Given the description of an element on the screen output the (x, y) to click on. 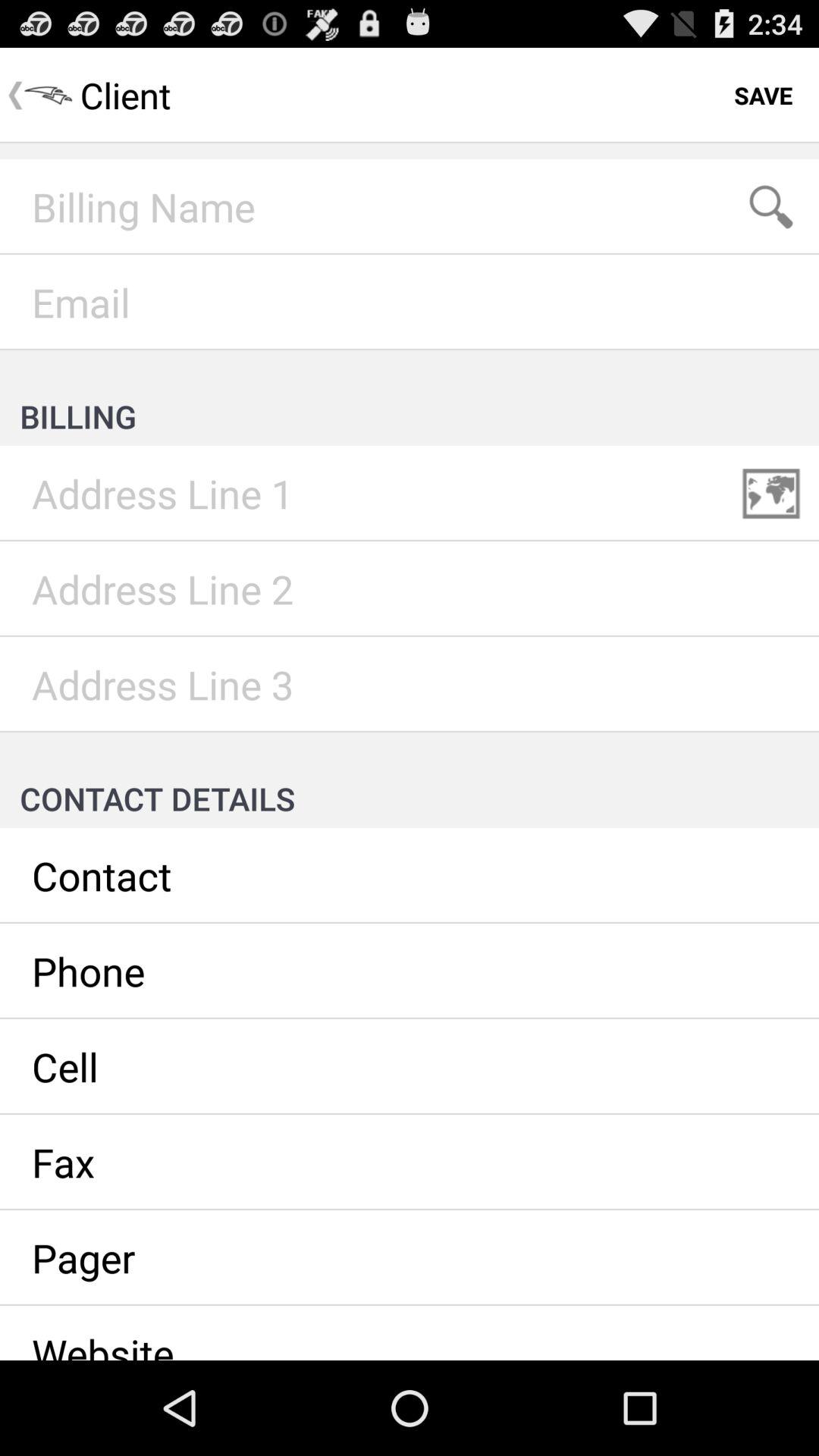
world button (771, 493)
